Given the description of an element on the screen output the (x, y) to click on. 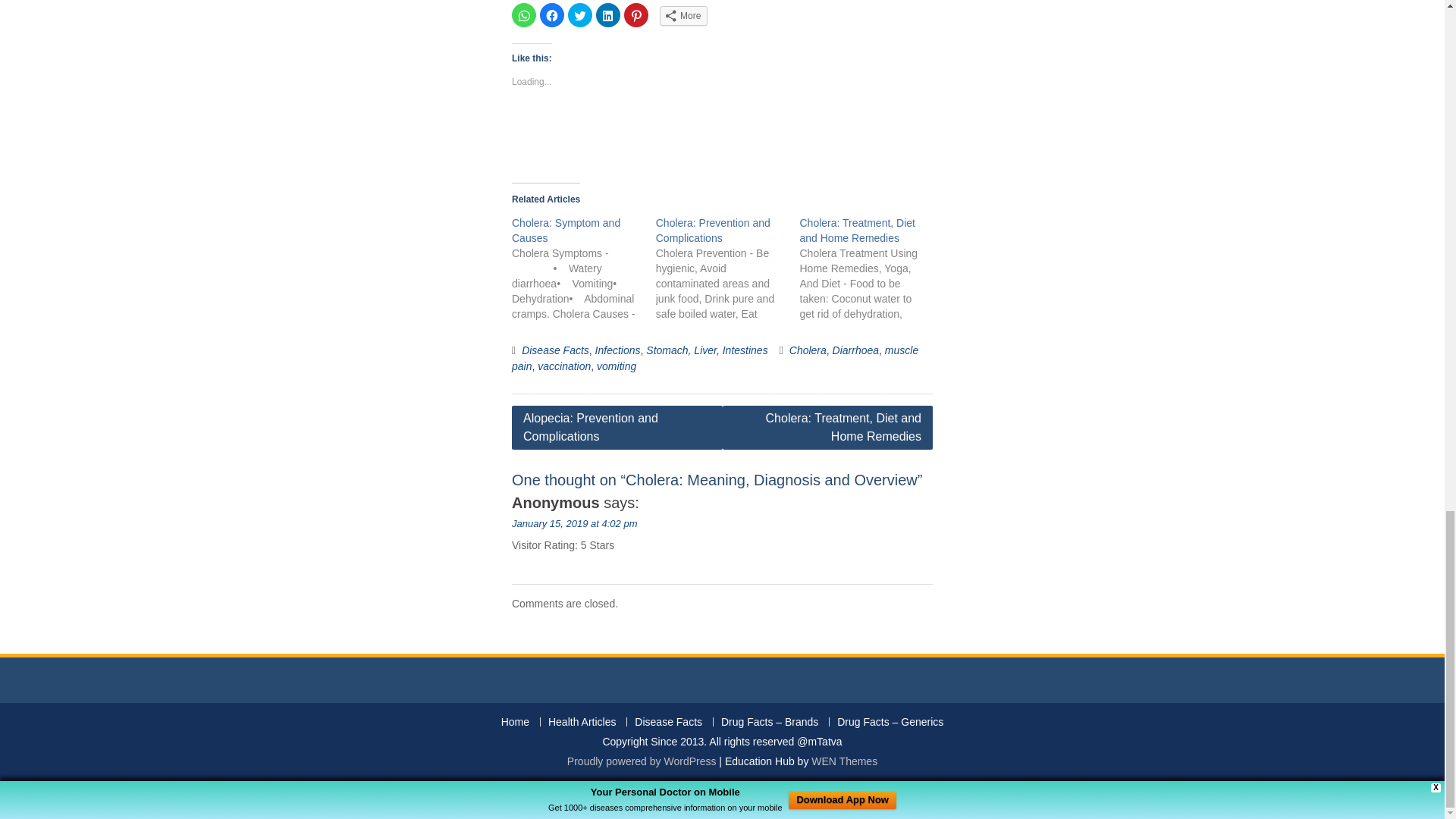
More (683, 15)
Cholera: Prevention and Complications (713, 230)
Cholera: Symptom and Causes (566, 230)
Click to share on WhatsApp (523, 15)
Click to share on Pinterest (635, 15)
Cholera: Symptom and Causes (566, 230)
Click to share on LinkedIn (607, 15)
Cholera: Symptom and Causes (584, 268)
Cholera: Prevention and Complications (713, 230)
Click to share on Twitter (579, 15)
